Given the description of an element on the screen output the (x, y) to click on. 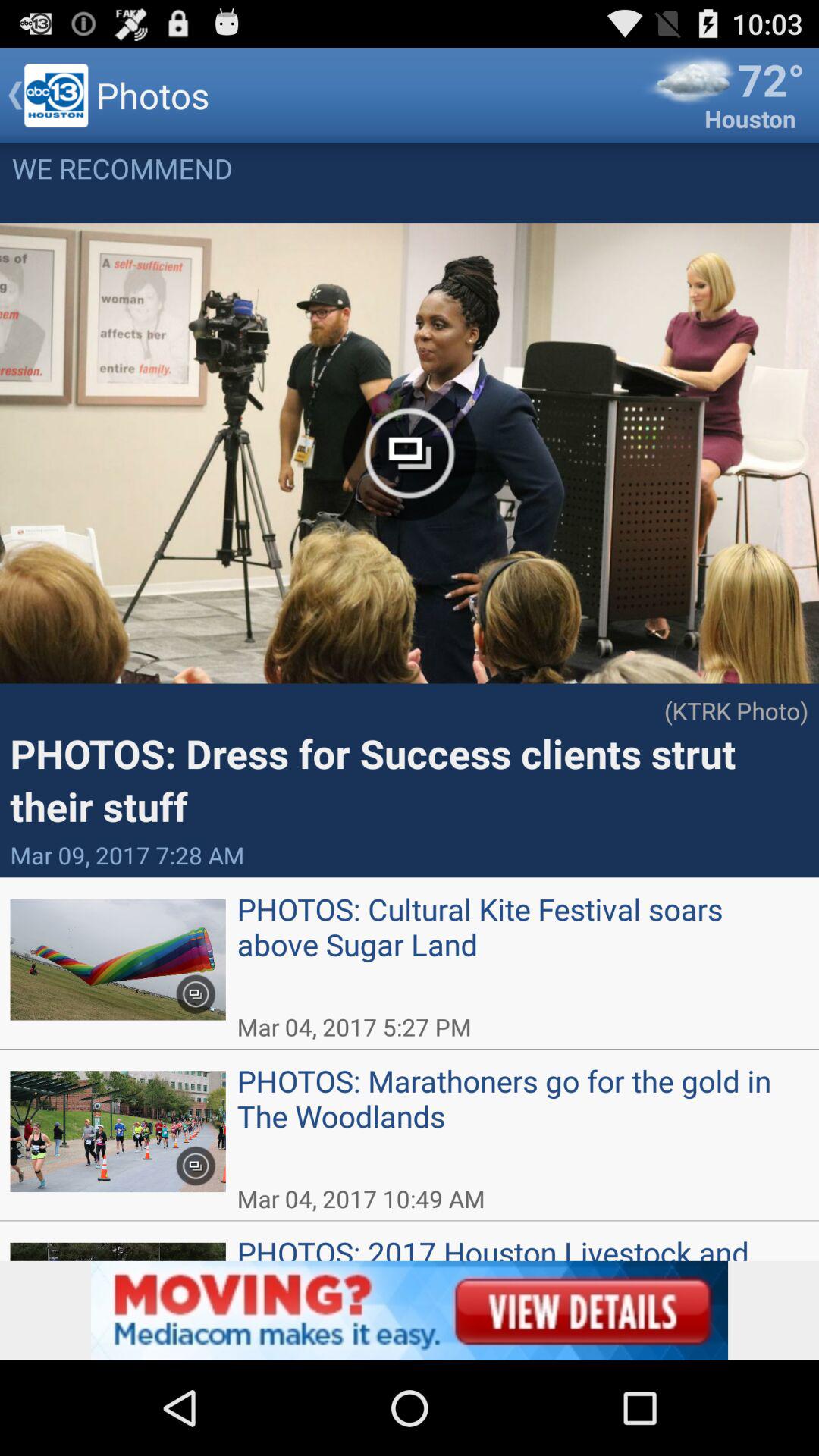
click on the icon in middle of the first image (409, 453)
